Given the description of an element on the screen output the (x, y) to click on. 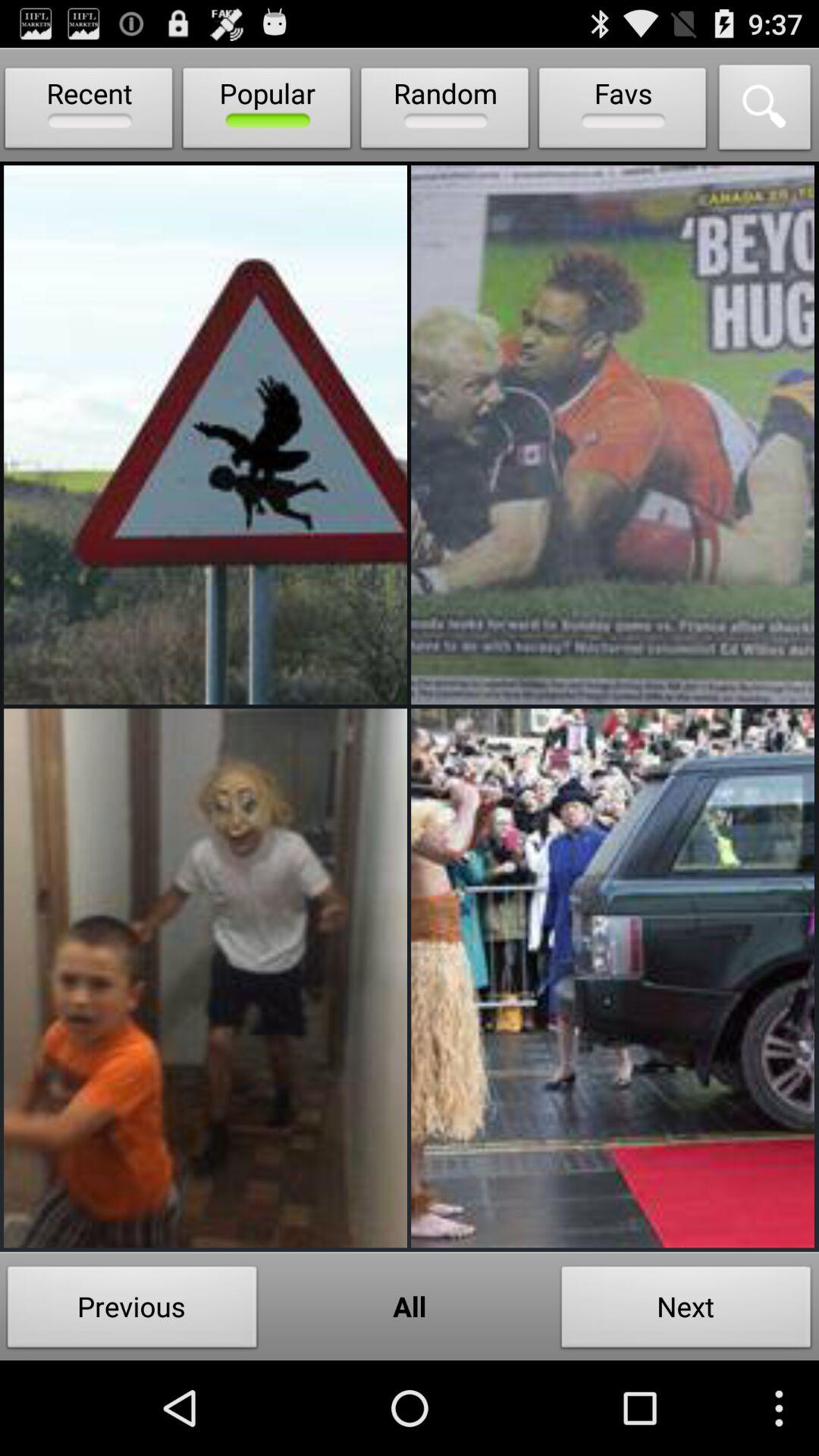
jump to recent (89, 111)
